Given the description of an element on the screen output the (x, y) to click on. 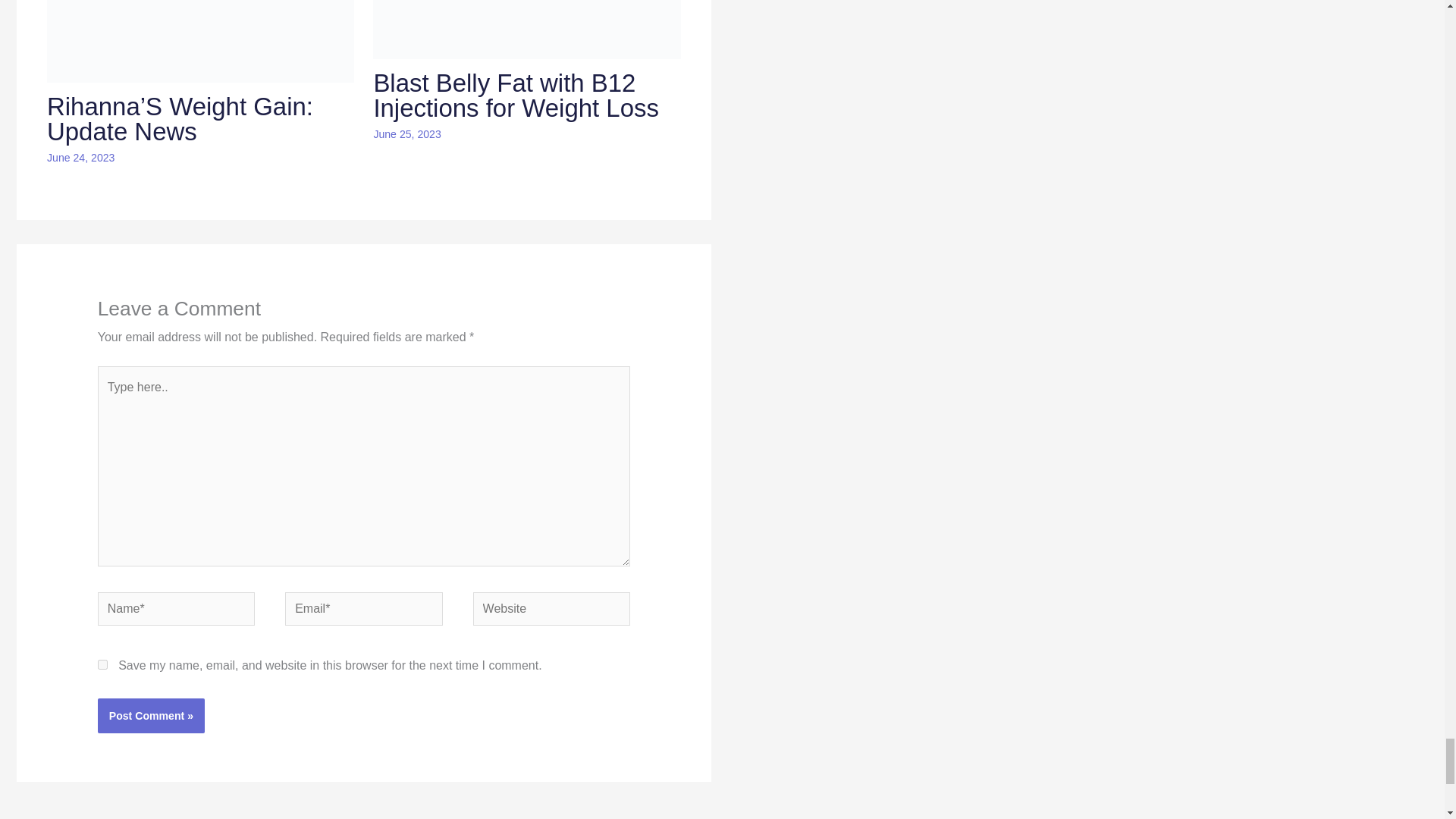
yes (102, 664)
